Given the description of an element on the screen output the (x, y) to click on. 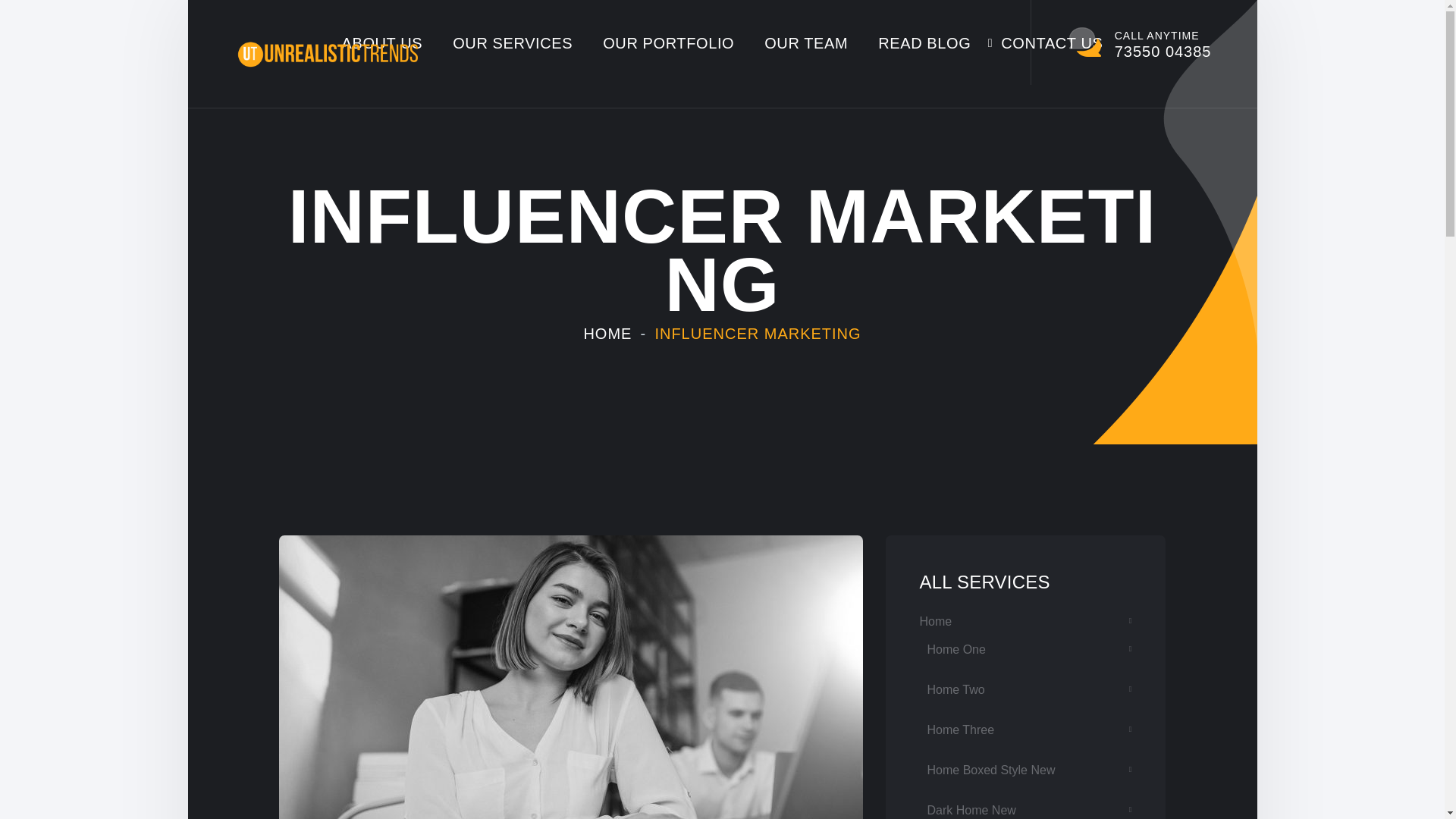
OUR TEAM (805, 42)
Home One (1028, 649)
CONTACT US (1051, 42)
READ BLOG (924, 42)
Home (1024, 621)
OUR SERVICES (512, 42)
Home Boxed Style New (1028, 770)
HOME (607, 333)
OUR PORTFOLIO (667, 42)
Home Two (1139, 42)
Home Three (1028, 689)
Dark Home New (1028, 729)
ABOUT US (1028, 805)
